Given the description of an element on the screen output the (x, y) to click on. 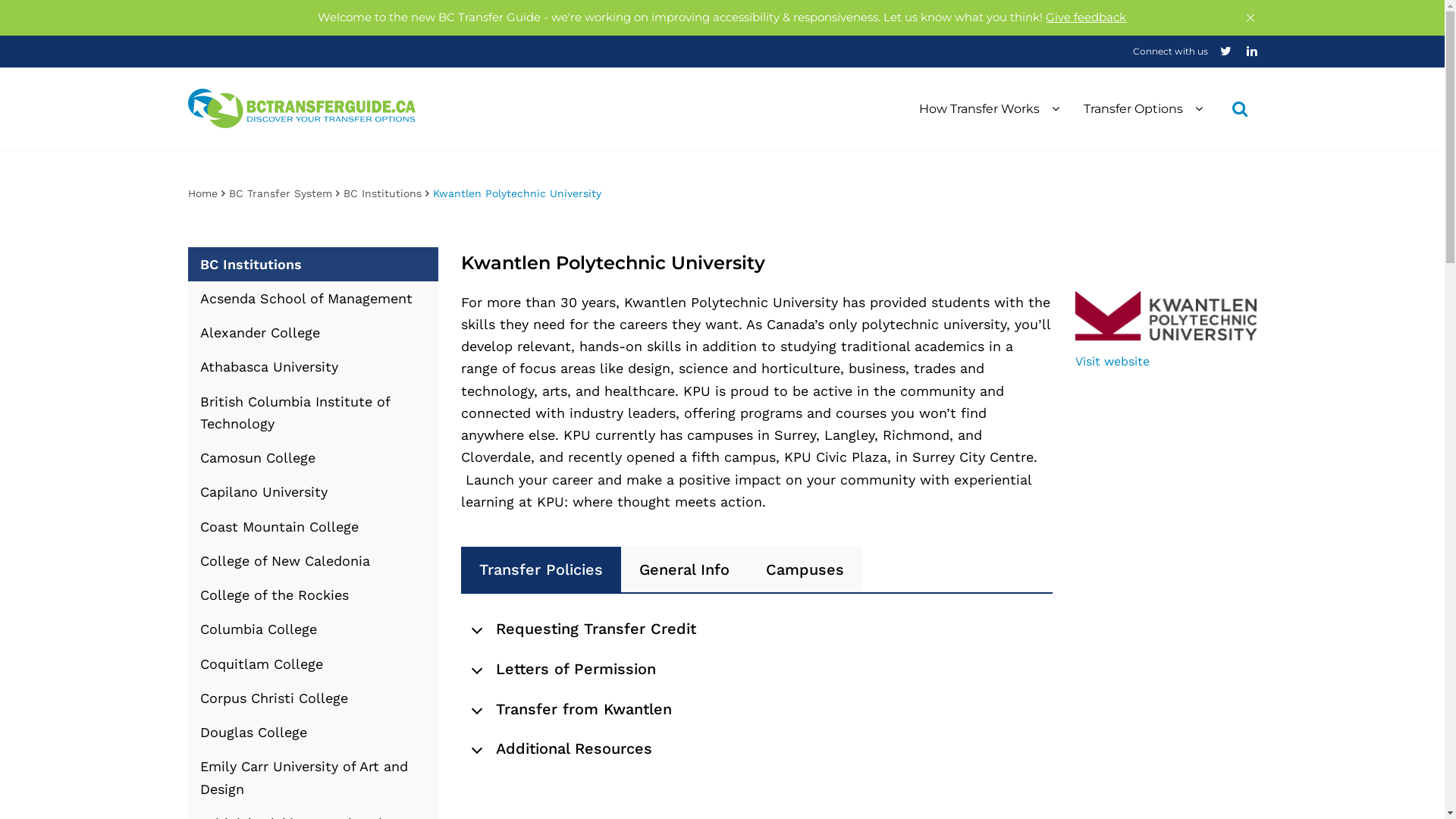
College of the Rockies Element type: text (313, 594)
General Info Element type: text (683, 569)
Emily Carr University of Art and Design Element type: text (313, 777)
Athabasca University Element type: text (313, 366)
BC Transfer System Element type: text (280, 192)
Douglas College Element type: text (313, 732)
Coast Mountain College Element type: text (313, 526)
Visit website Element type: text (1112, 361)
Acsenda School of Management Element type: text (313, 298)
Requesting Transfer Credit Element type: text (756, 625)
Additional Resources Element type: text (756, 745)
Capilano University Element type: text (313, 491)
Alexander College Element type: text (313, 332)
Corpus Christi College Element type: text (313, 697)
Letters of Permission Element type: text (756, 666)
Transfer from Kwantlen Element type: text (756, 706)
Home Element type: text (202, 192)
BC Institutions Element type: text (313, 264)
BC Institutions Element type: text (381, 192)
British Columbia Institute of Technology Element type: text (313, 411)
How Transfer Works Element type: text (989, 107)
Camosun College Element type: text (313, 457)
Give feedback Element type: text (1085, 16)
Campuses Element type: text (804, 569)
Coquitlam College Element type: text (313, 663)
Transfer Policies Element type: text (541, 569)
College of New Caledonia Element type: text (313, 560)
Transfer Options Element type: text (1141, 107)
Columbia College Element type: text (313, 628)
